Given the description of an element on the screen output the (x, y) to click on. 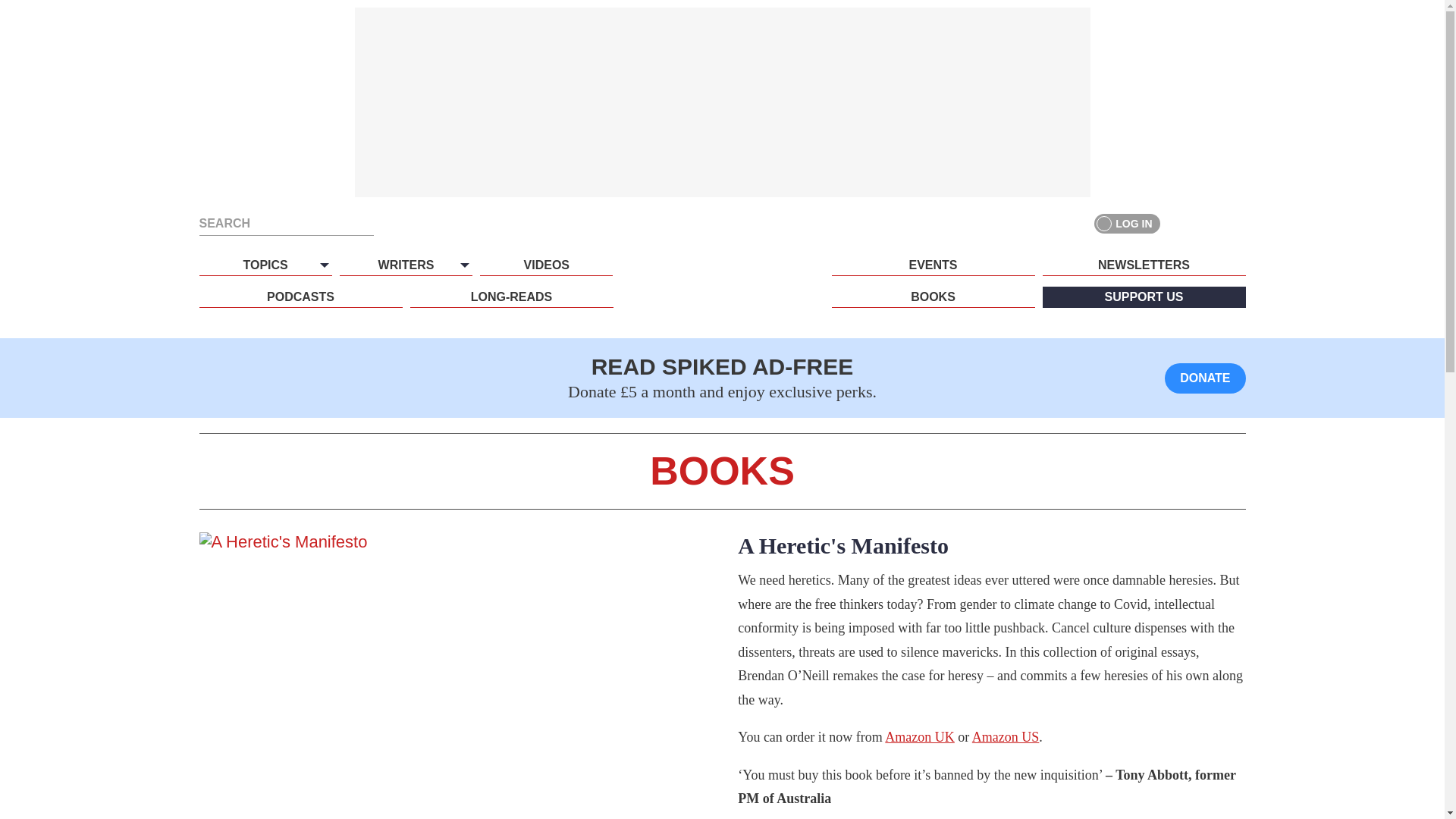
TOPICS (264, 265)
EVENTS (932, 265)
LONG-READS (510, 296)
LOG IN (1126, 223)
spiked - humanity is underrated (722, 293)
BOOKS (932, 296)
VIDEOS (546, 265)
PODCASTS (299, 296)
WRITERS (405, 265)
Facebook (1180, 223)
NEWSLETTERS (1143, 265)
Twitter (1207, 223)
SUPPORT US (1143, 296)
YouTube (1234, 223)
